Given the description of an element on the screen output the (x, y) to click on. 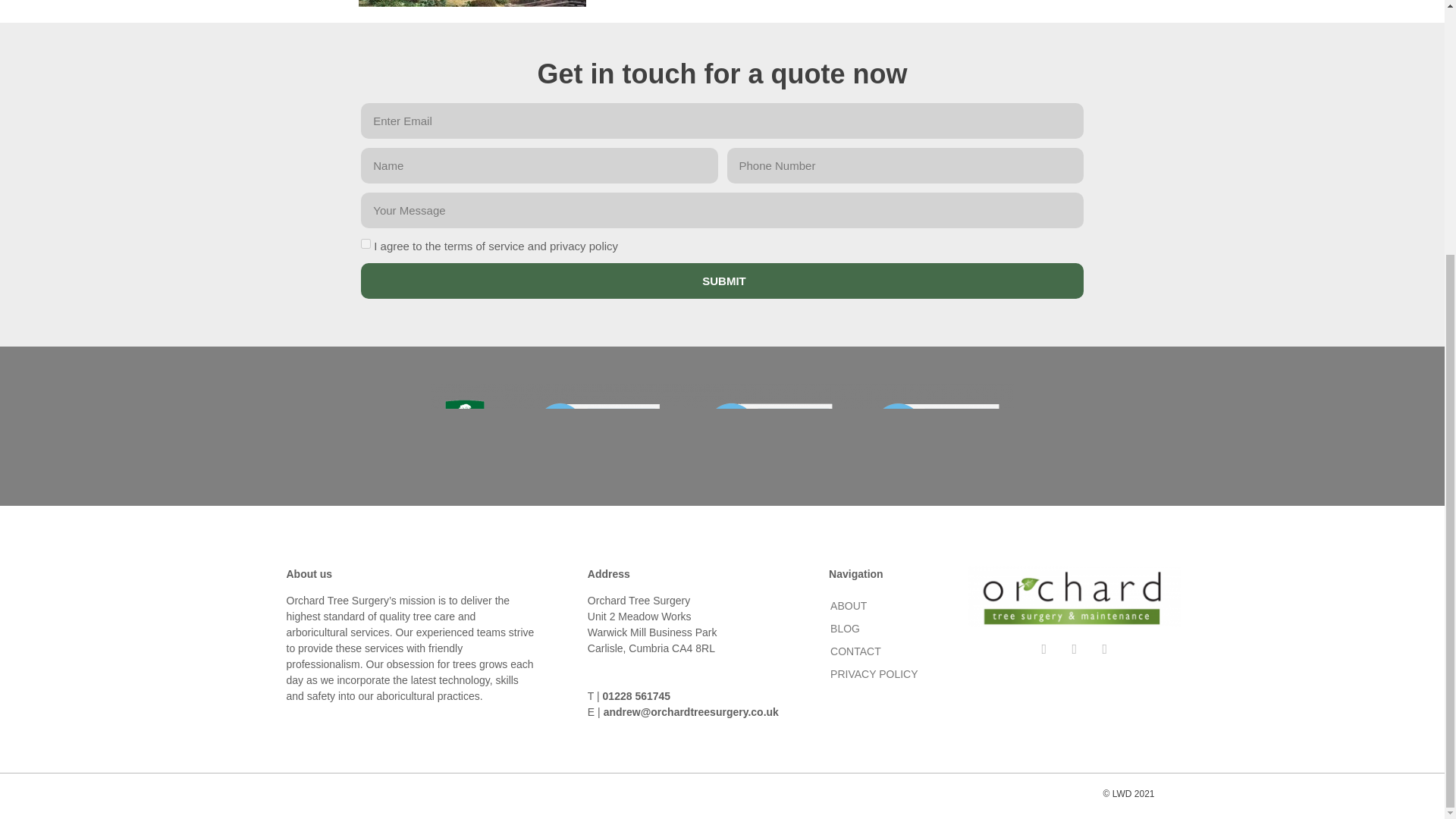
ABOUT (890, 605)
I agree to the terms of service and privacy policy  (366, 243)
SUBMIT (722, 280)
